Given the description of an element on the screen output the (x, y) to click on. 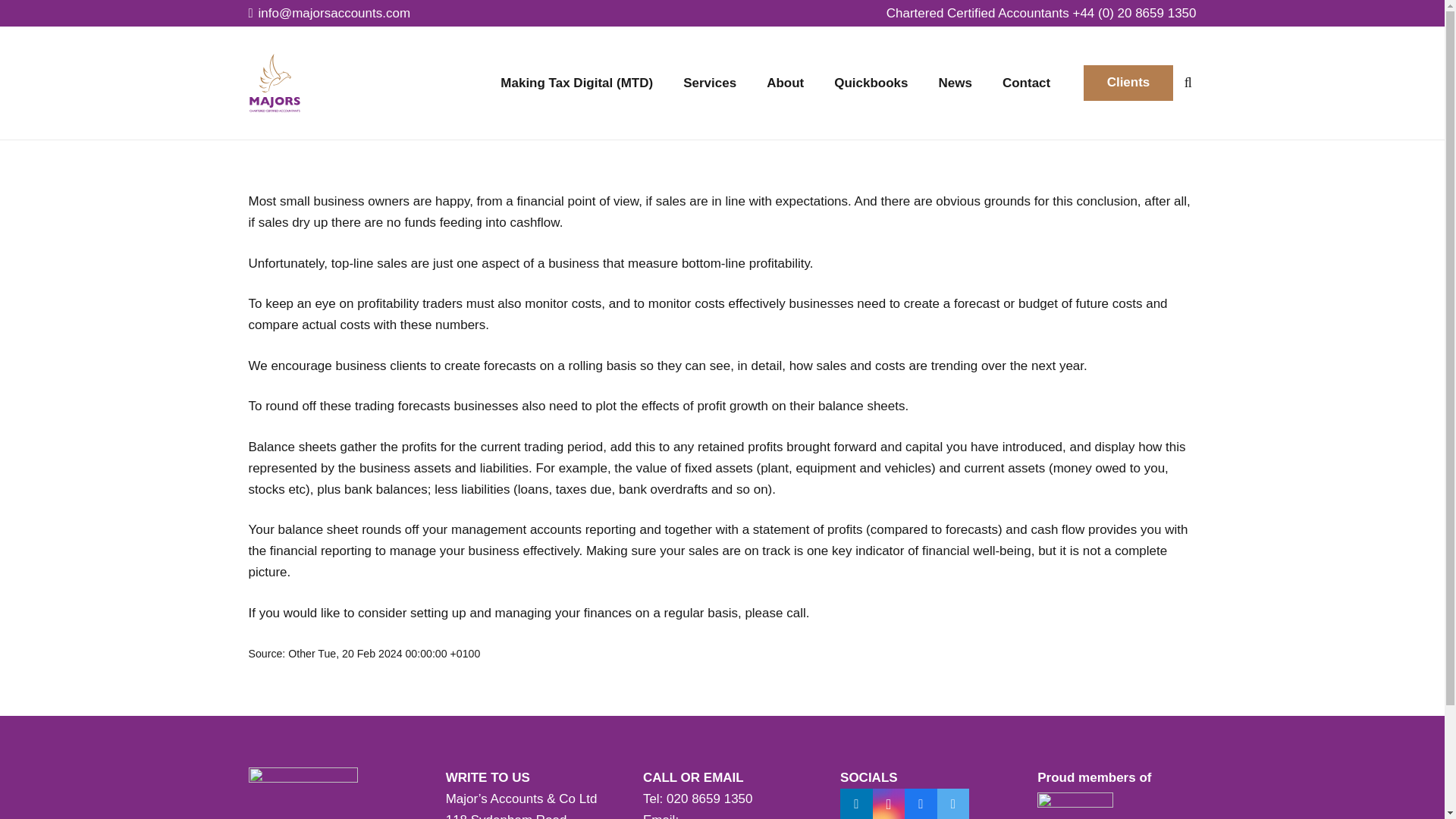
Clients (1128, 83)
Facebook (920, 803)
Instagram (888, 803)
LinkedIn (856, 803)
Quickbooks (870, 82)
Twitter (953, 803)
